Given the description of an element on the screen output the (x, y) to click on. 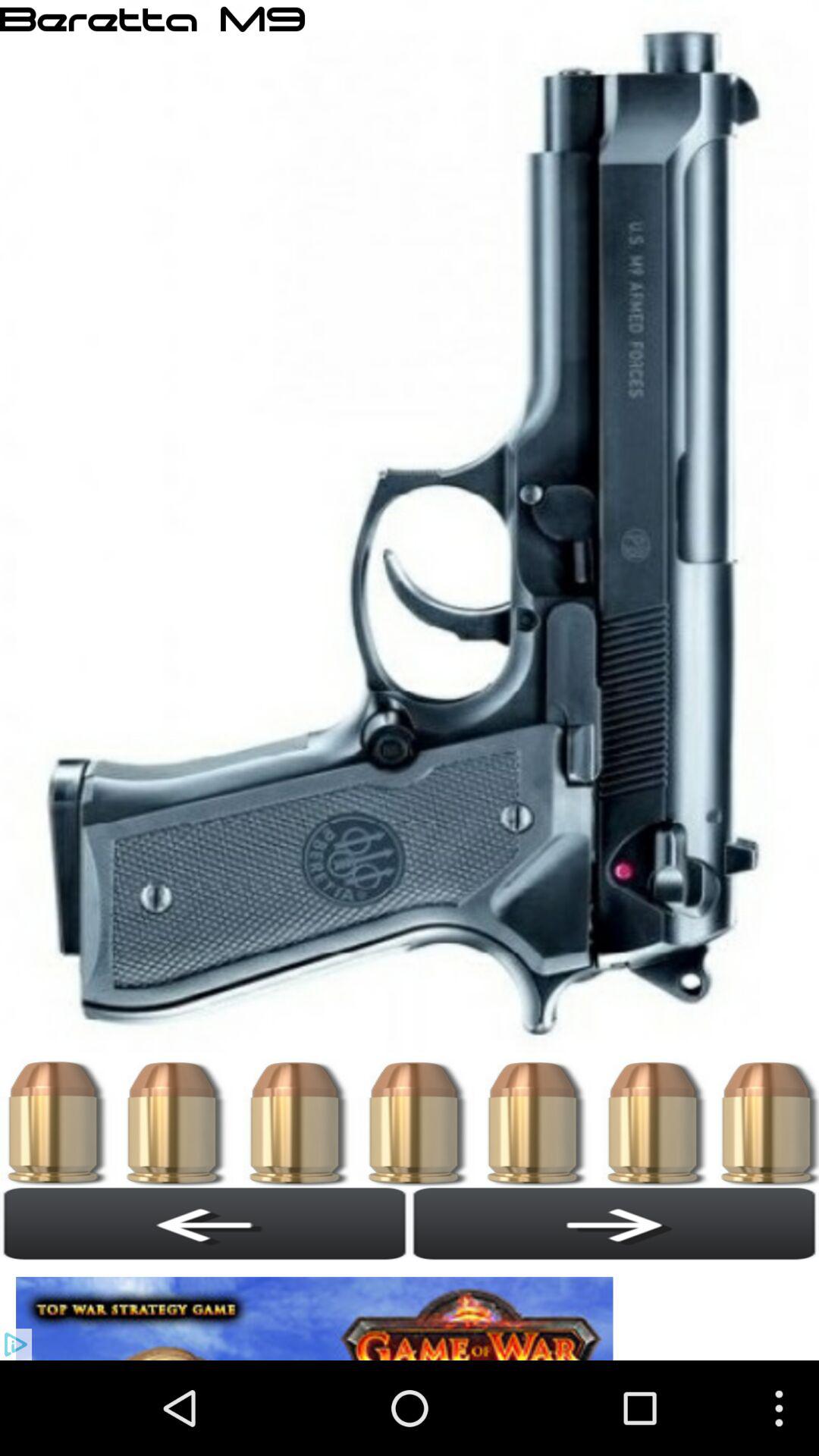
go next button (614, 1223)
